Given the description of an element on the screen output the (x, y) to click on. 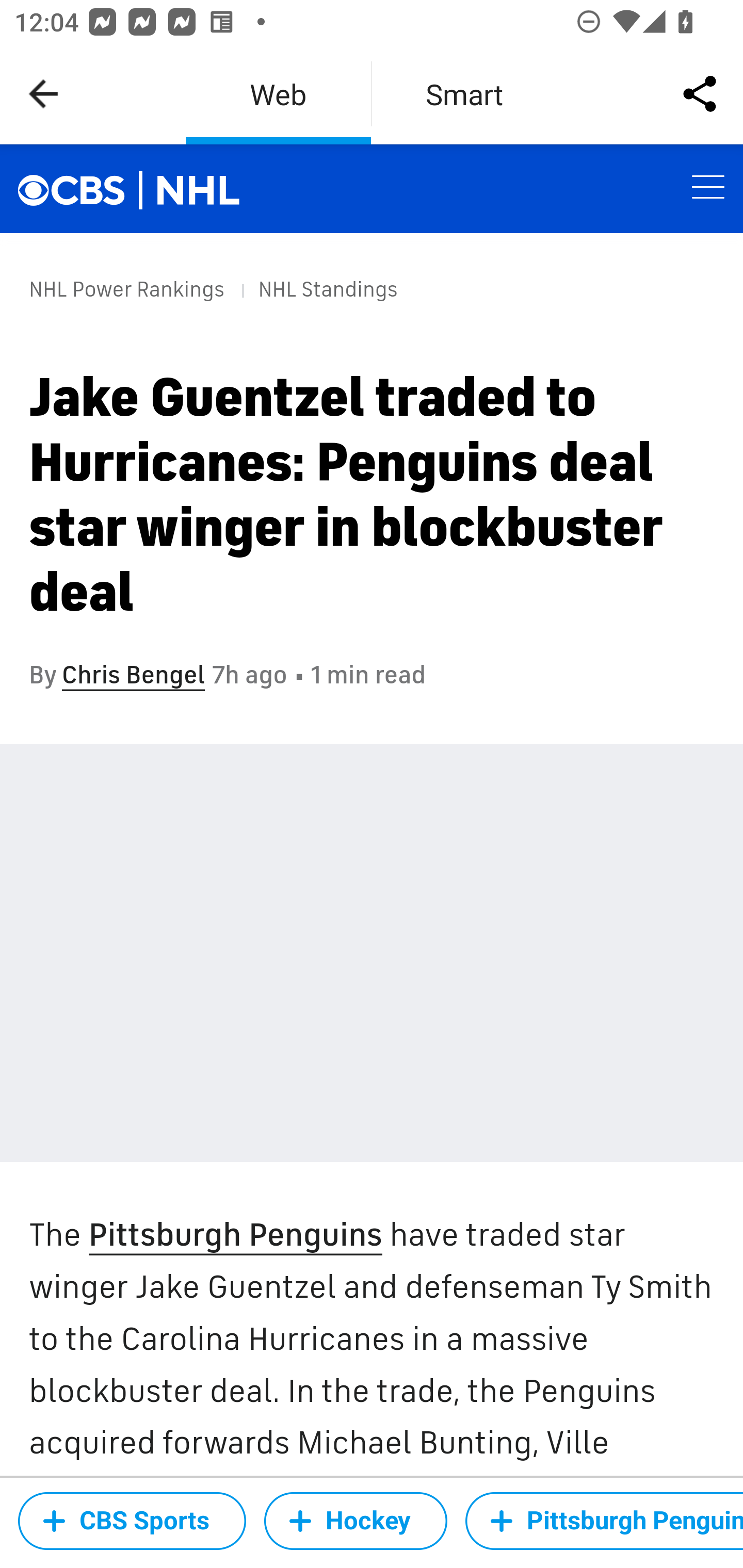
Web (277, 93)
Smart (464, 93)
 (81, 187)
 (199, 189)
NHL Power Rankings (126, 289)
NHL Standings (327, 289)
Chris Bengel (133, 674)
Pittsburgh Penguins (234, 1235)
CBS Sports (131, 1520)
Hockey (355, 1520)
Pittsburgh Penguins (604, 1520)
